Given the description of an element on the screen output the (x, y) to click on. 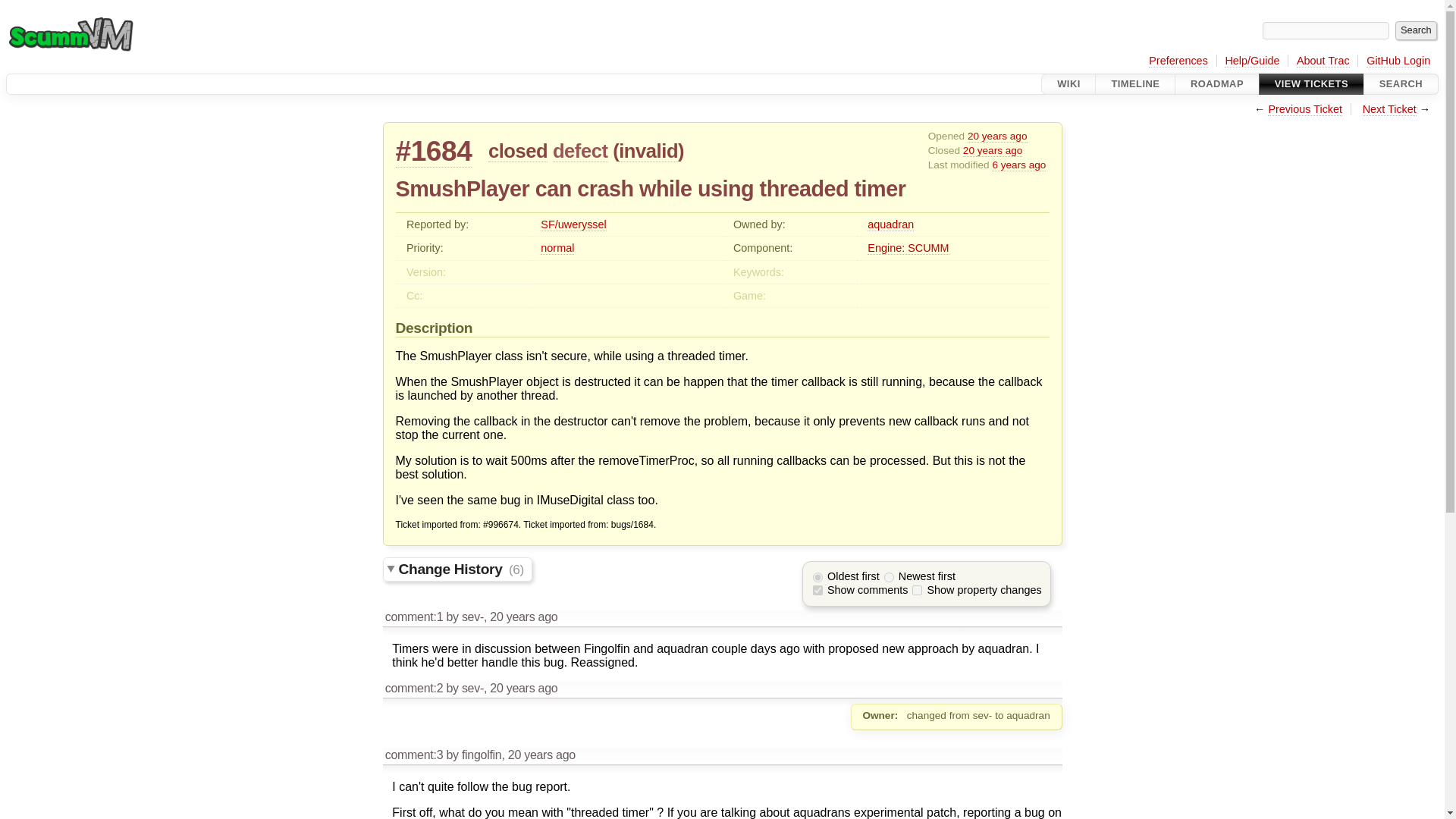
aquadran (890, 224)
20 years ago (997, 136)
See timeline at Jul 27, 2004, 10:31:37 PM (992, 150)
defect (580, 151)
on (916, 590)
Next Ticket (1389, 109)
Previous Ticket (1305, 109)
Preferences (1178, 60)
oldest (817, 577)
closed (517, 151)
